Given the description of an element on the screen output the (x, y) to click on. 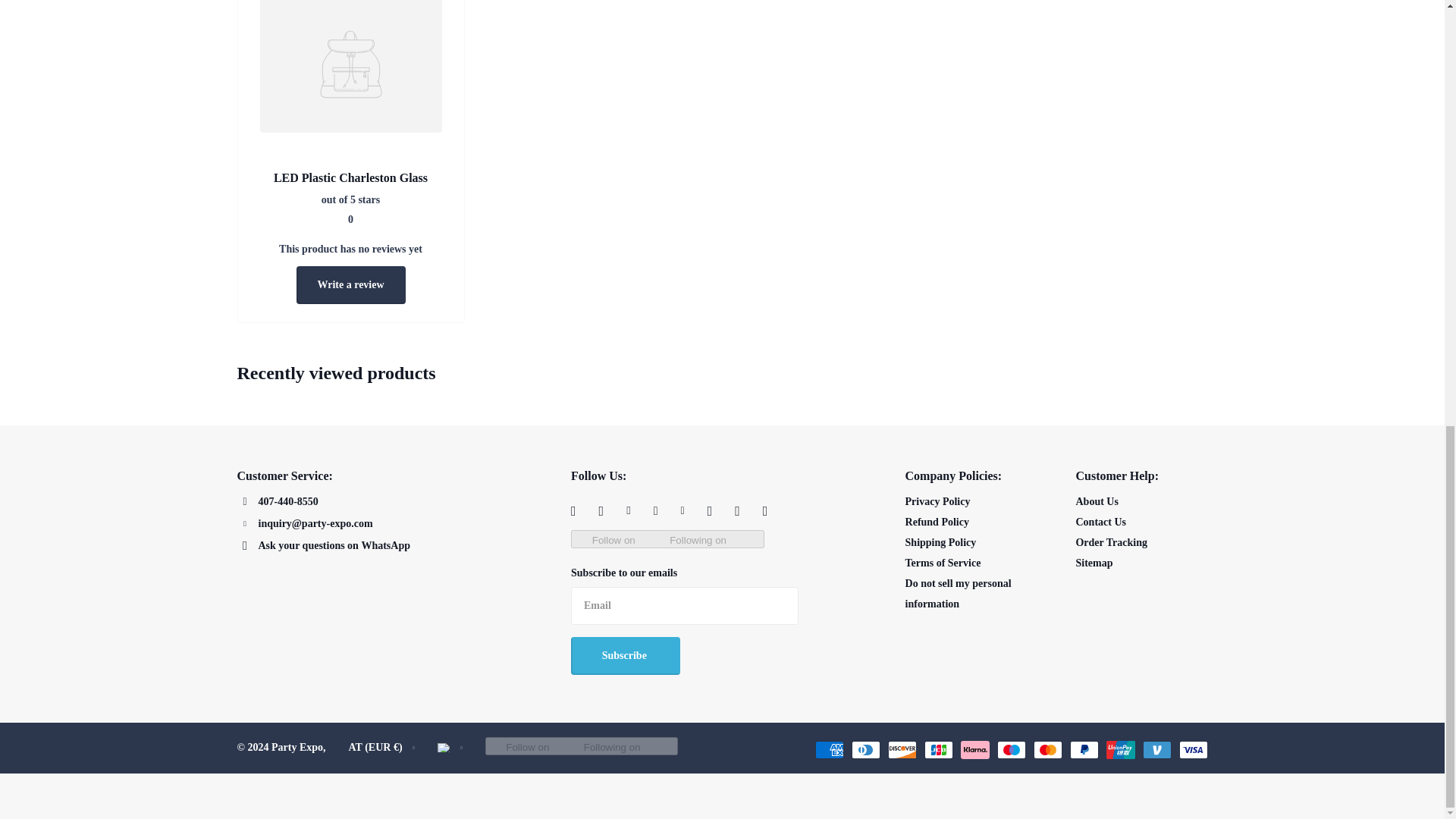
Visa (1192, 750)
Shipping Policy (940, 542)
Do not sell my personal information (958, 593)
Diners Club (864, 750)
Refund Policy (937, 521)
Privacy Policy (938, 501)
About Us (1096, 501)
Mastercard (1046, 750)
Maestro (1010, 750)
Terms of Service (943, 562)
Order Tracking (1111, 542)
American Express (828, 750)
PayPal (1082, 750)
JCB (937, 750)
Klarna (973, 750)
